Given the description of an element on the screen output the (x, y) to click on. 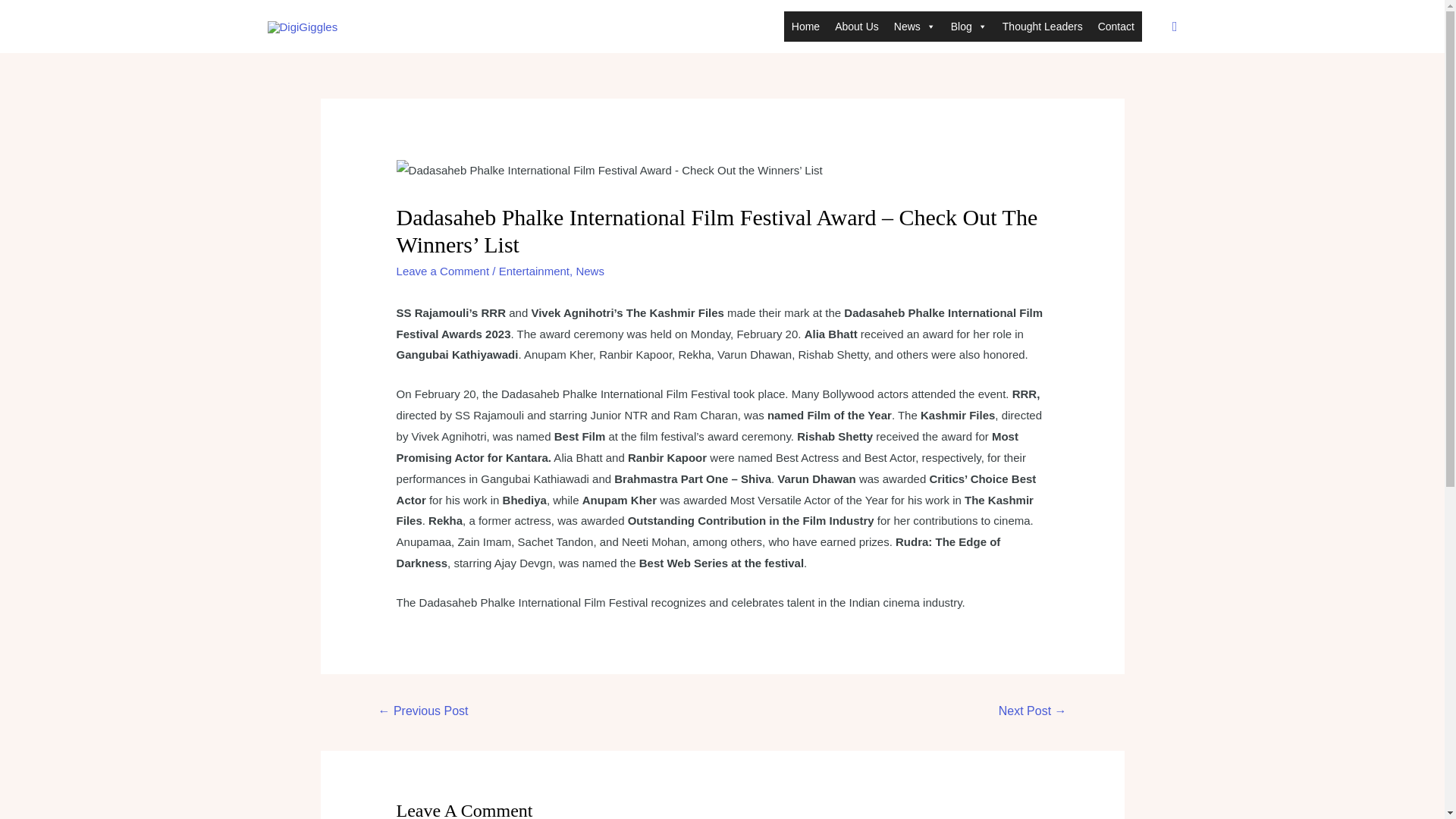
Contact (1115, 26)
News (914, 26)
Thought Leaders (1042, 26)
Home (805, 26)
Leave a Comment (442, 270)
Entertainment (534, 270)
About Us (856, 26)
Blog (968, 26)
News (589, 270)
